Given the description of an element on the screen output the (x, y) to click on. 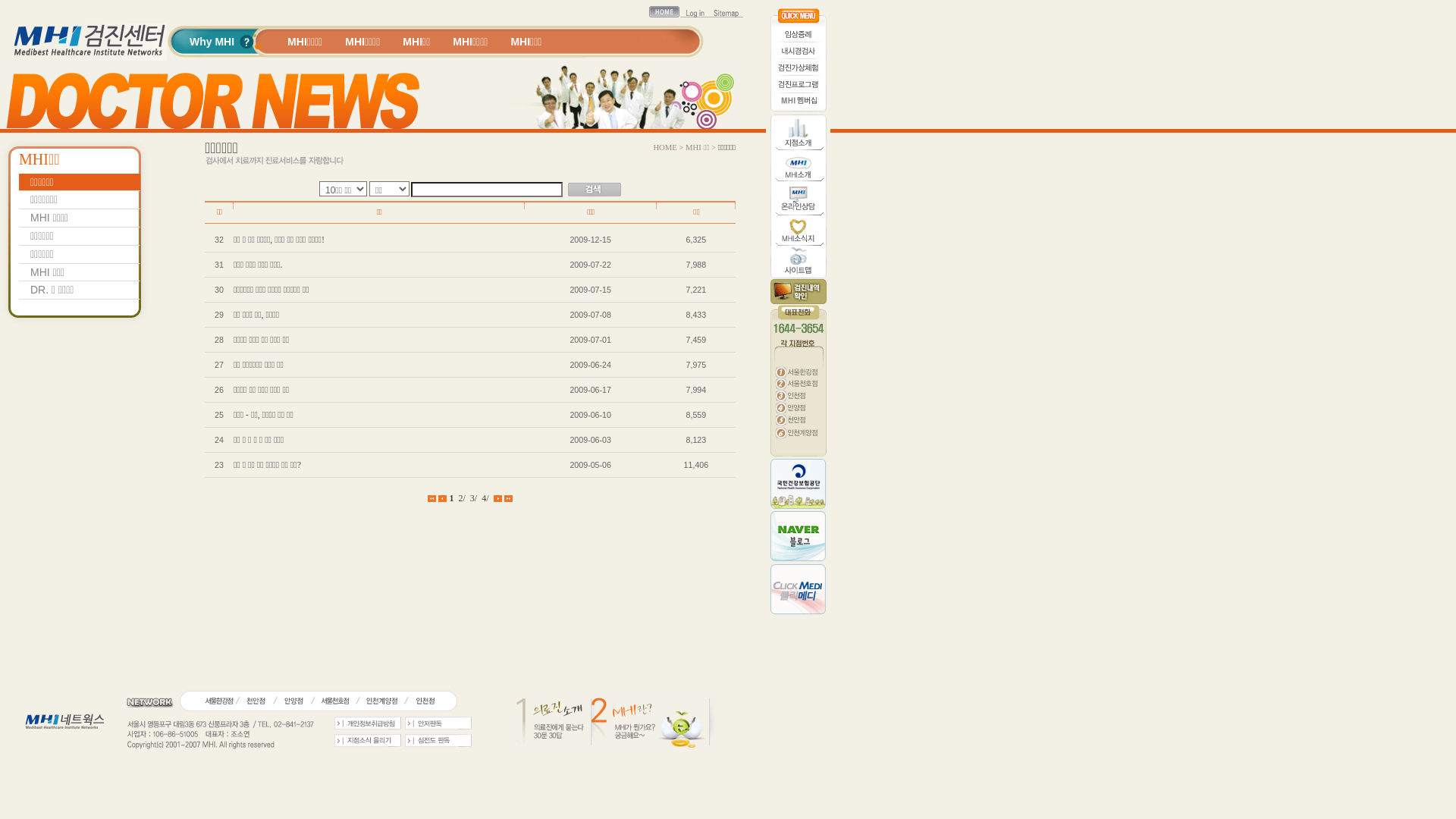
Why MHI Element type: text (211, 41)
2 Element type: text (460, 497)
3 Element type: text (472, 497)
4 Element type: text (483, 497)
